Given the description of an element on the screen output the (x, y) to click on. 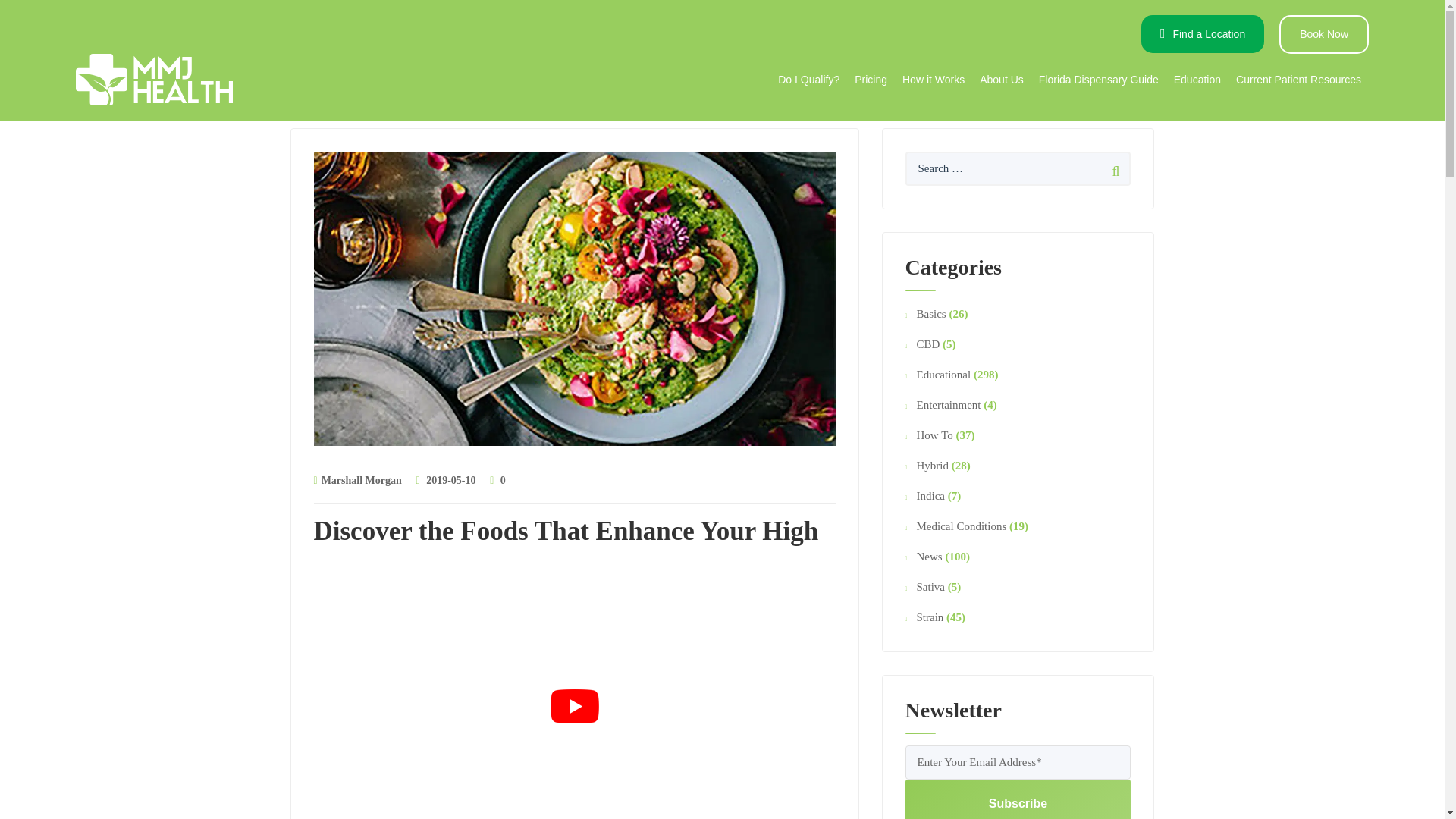
Book Now (1323, 34)
Find a Location (1202, 34)
Florida Dispensary Guide (1098, 79)
Do I Qualify? (808, 79)
About Us (1001, 79)
Current Patient Resources (1298, 79)
Education (1197, 79)
Subscribe (1018, 799)
Pricing (871, 79)
How it Works (933, 79)
